Given the description of an element on the screen output the (x, y) to click on. 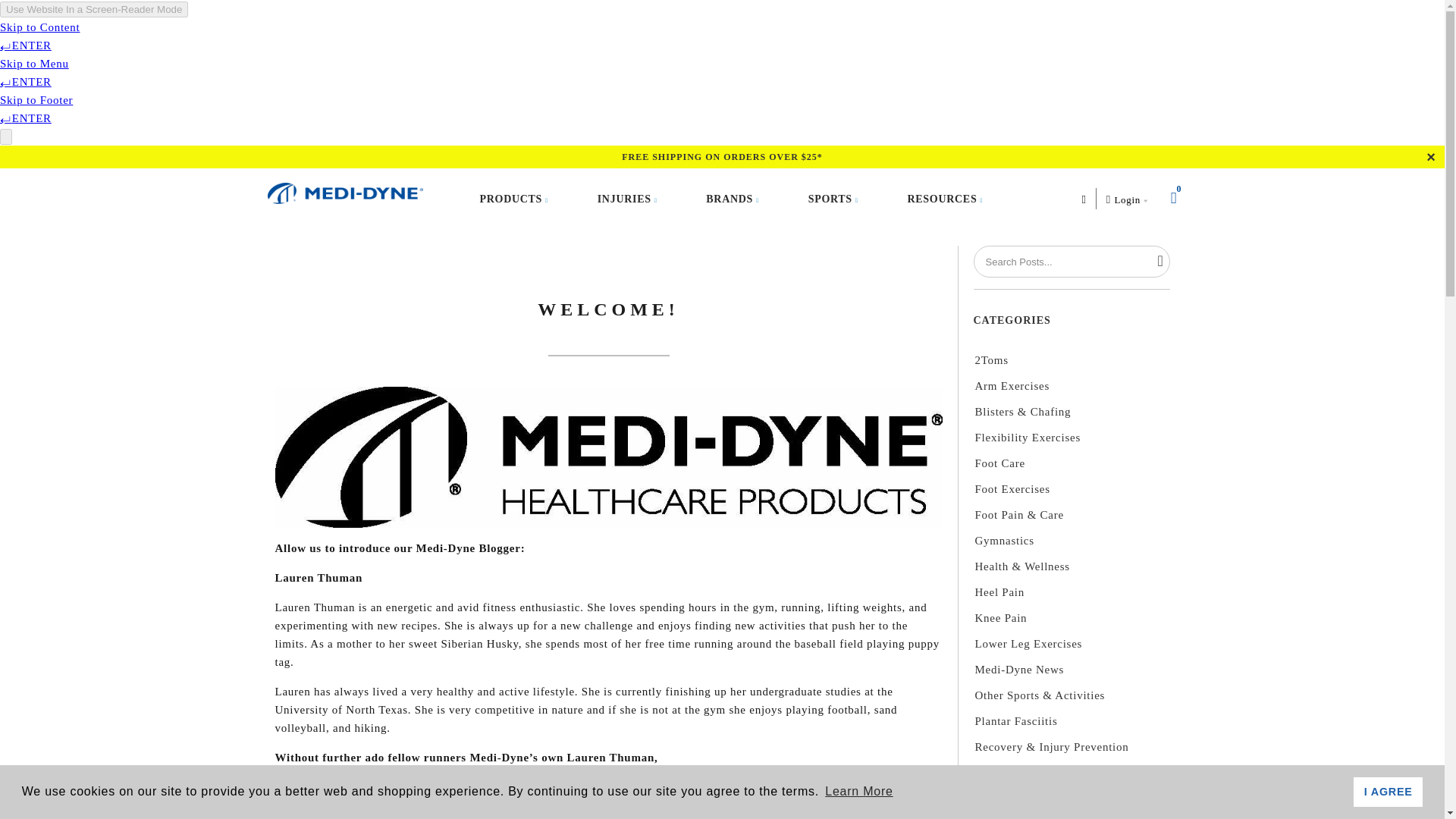
Learn More (858, 791)
Medi-Dyne Healthcare Products (348, 192)
I AGREE (1388, 791)
